Given the description of an element on the screen output the (x, y) to click on. 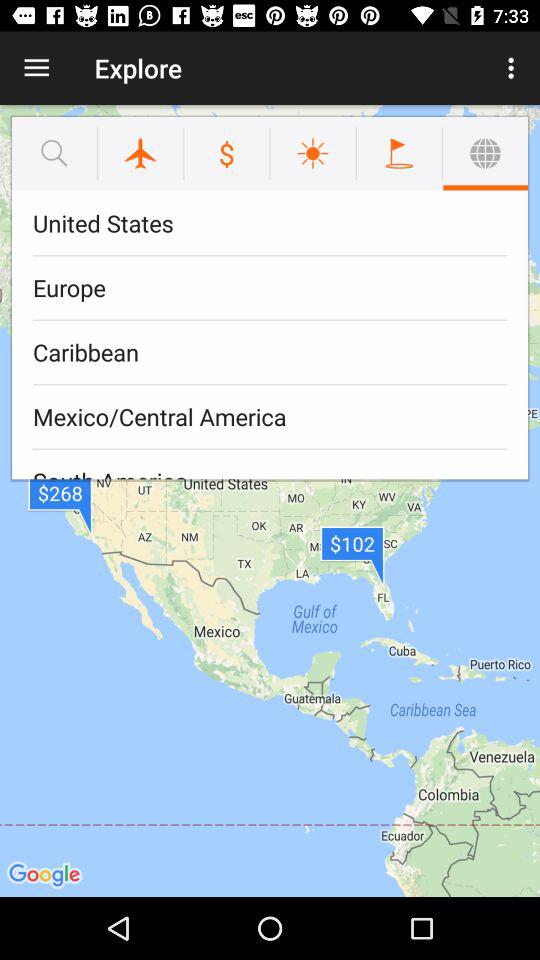
launch the item to the left of the explore item (36, 68)
